Given the description of an element on the screen output the (x, y) to click on. 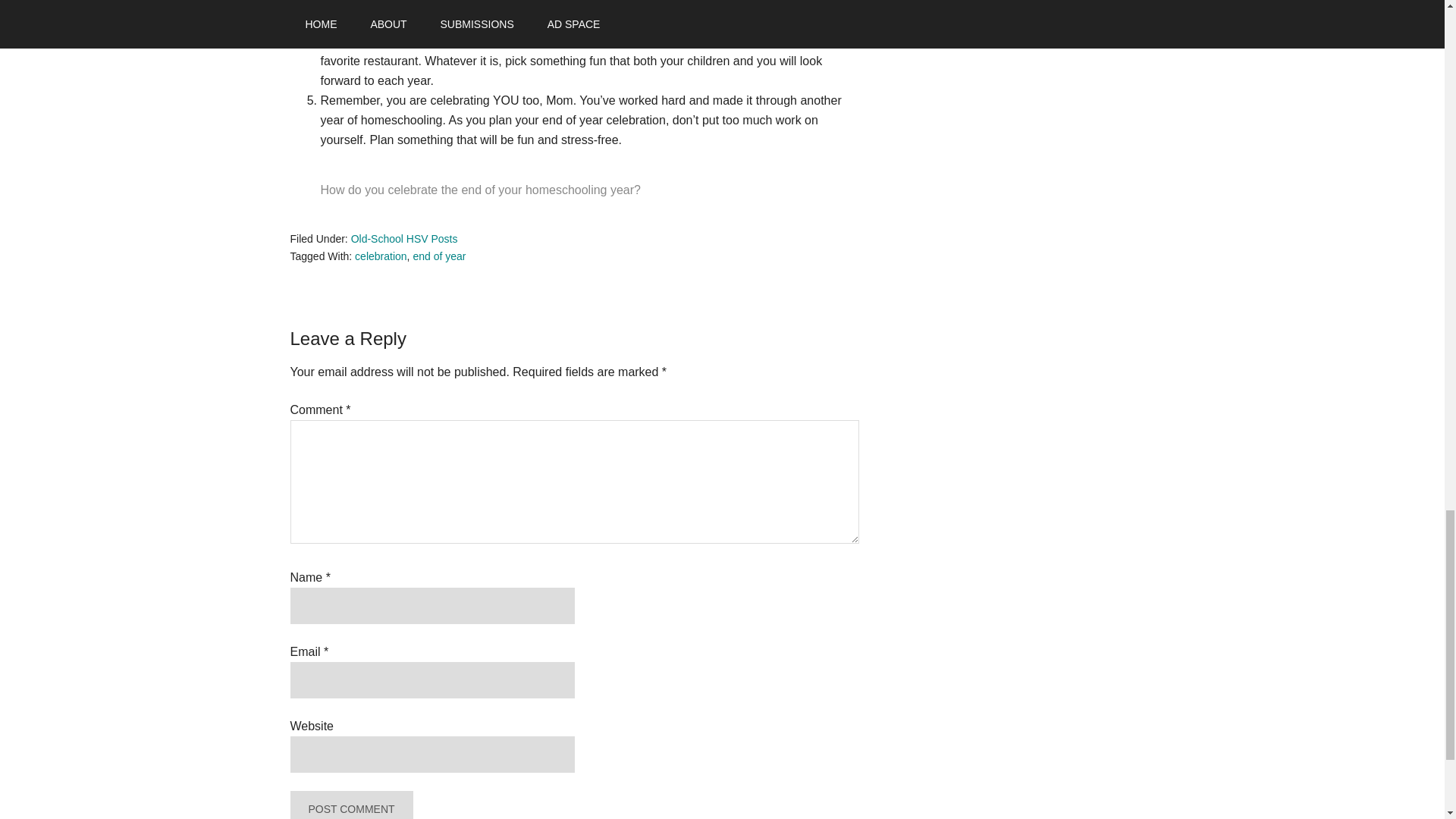
Old-School HSV Posts (404, 238)
celebration (381, 256)
Post Comment (350, 805)
end of year (438, 256)
Post Comment (350, 805)
